Given the description of an element on the screen output the (x, y) to click on. 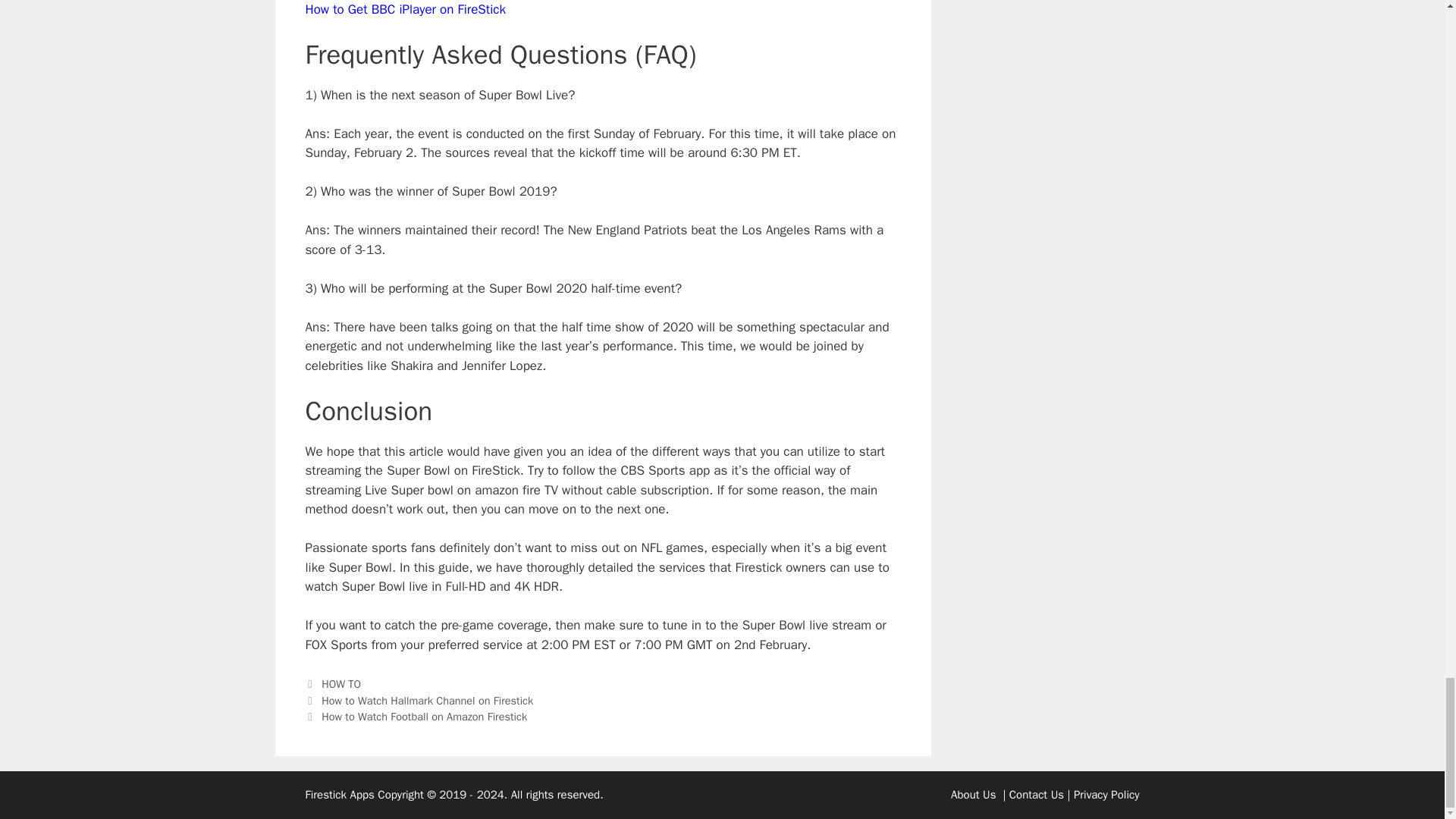
How to Watch Football on Amazon Firestick (424, 716)
How to Watch Hallmark Channel on Firestick (426, 700)
HOW TO (341, 684)
How to Get BBC iPlayer on FireStick (404, 9)
